Given the description of an element on the screen output the (x, y) to click on. 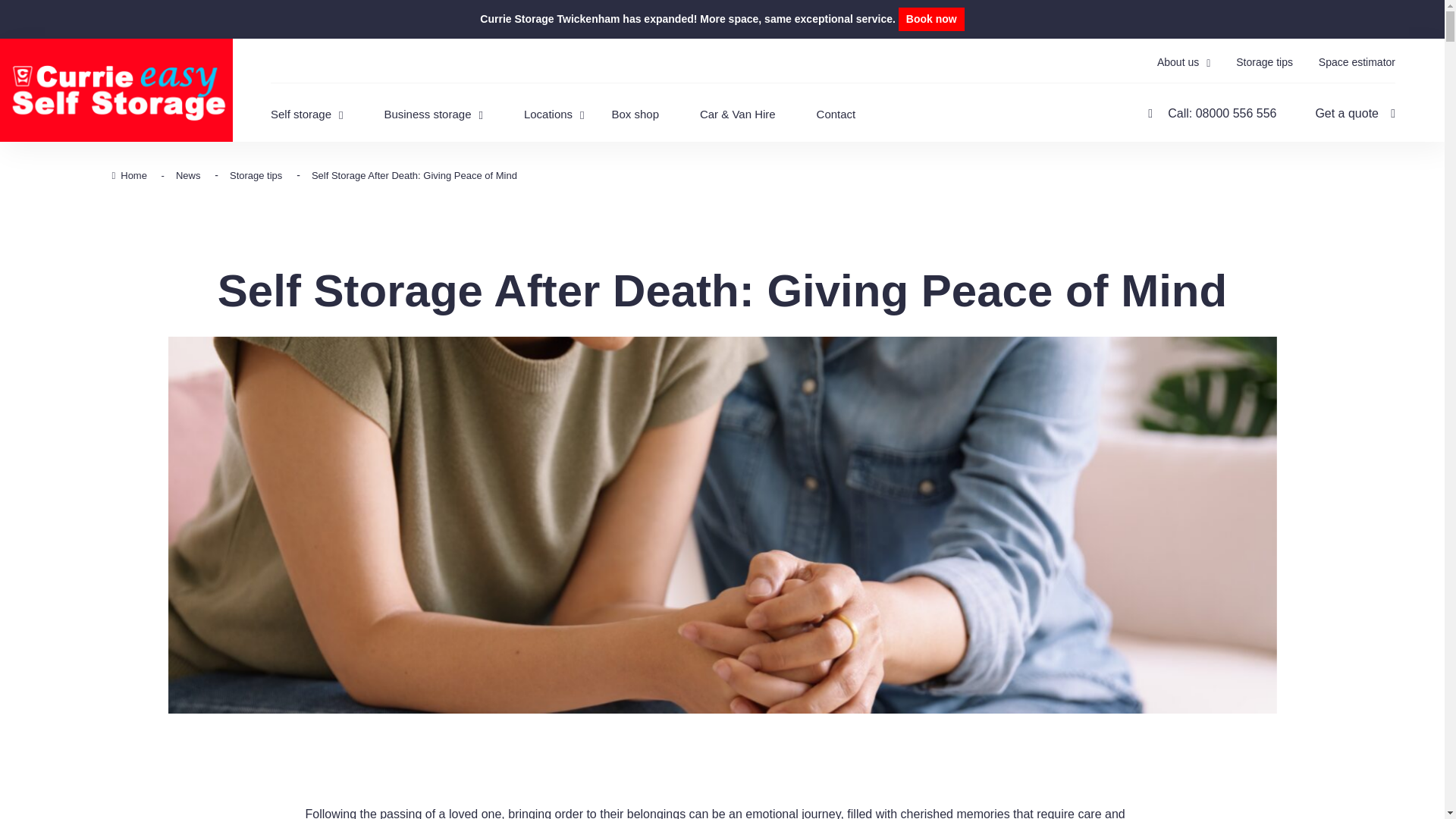
Get a quote (1354, 113)
Storage tips (1264, 62)
Space estimator (1356, 62)
About us (1183, 63)
Give us a call today - 08000 556 556 (1212, 113)
Book now (930, 15)
Self storage (325, 104)
